Given the description of an element on the screen output the (x, y) to click on. 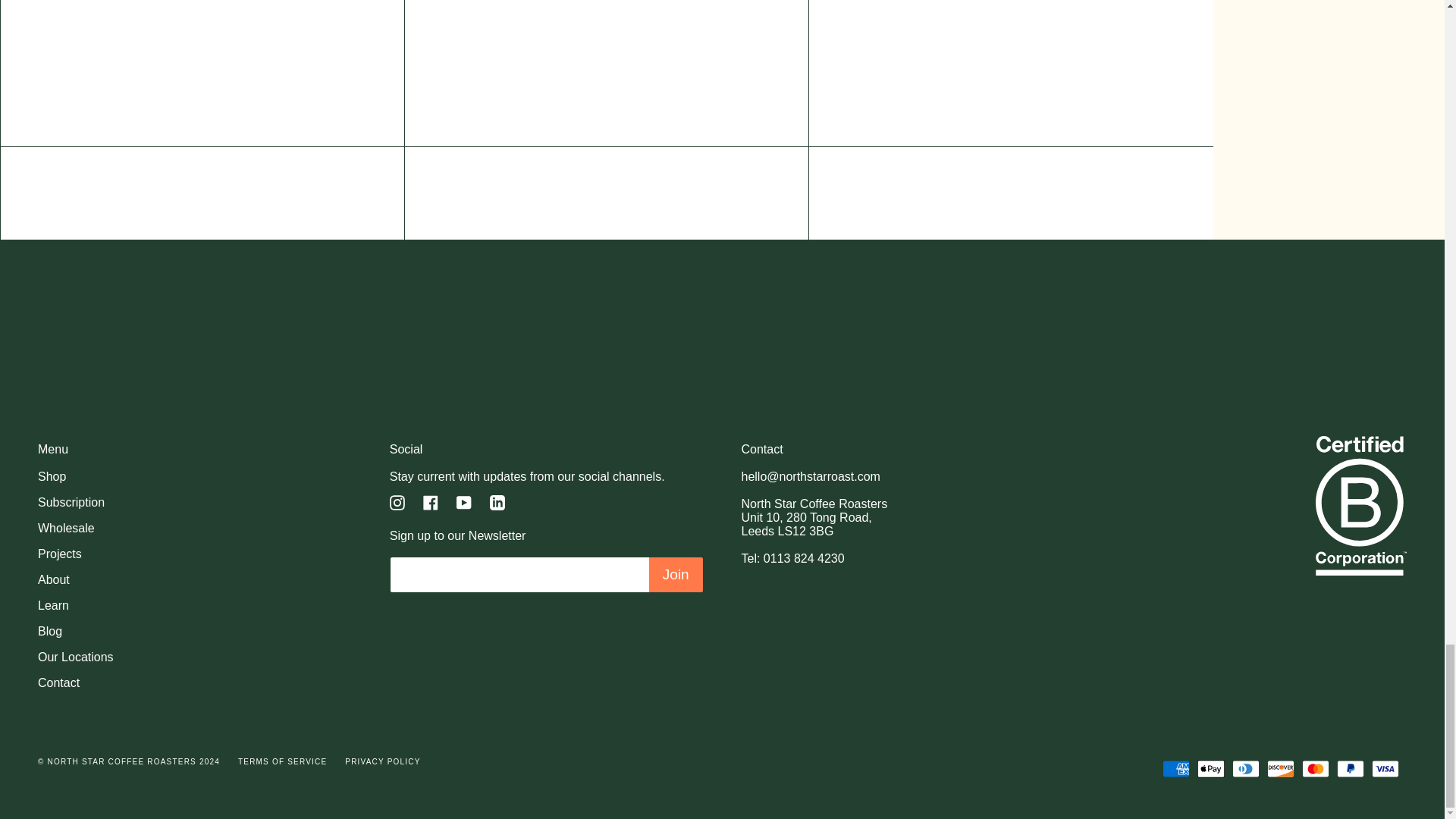
North Star Coffee Roasters on Instagram (397, 501)
Apple Pay (1210, 769)
PayPal (1350, 769)
Diners Club (1245, 769)
American Express (1175, 769)
North Star Coffee Roasters on YouTube (464, 501)
Discover (1280, 769)
North Star Coffee Roasters on Facebook (430, 501)
Mastercard (1315, 769)
North Star Coffee Roasters on Linkedin (497, 501)
